Given the description of an element on the screen output the (x, y) to click on. 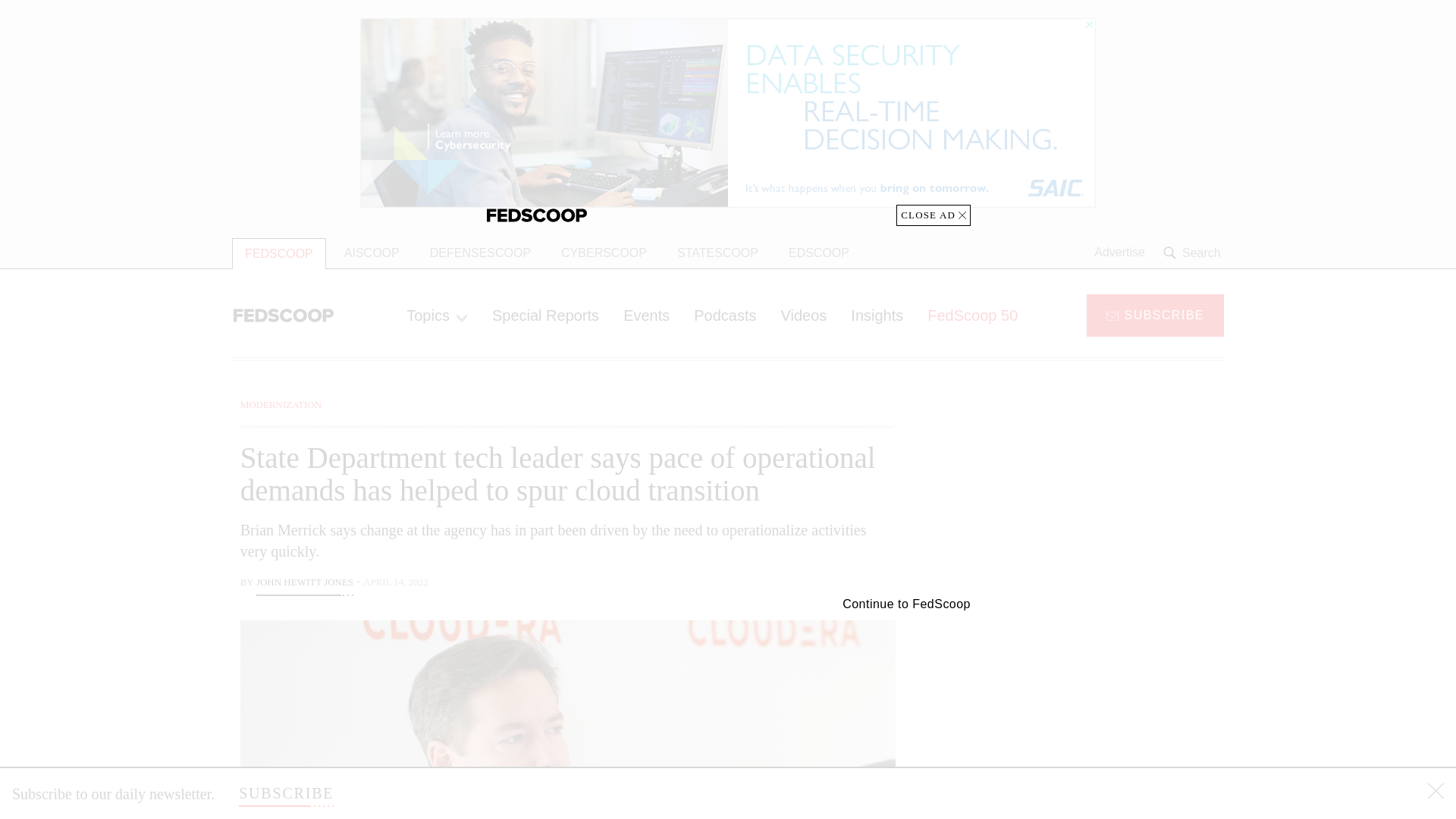
Topics (437, 315)
DEFENSESCOOP (480, 253)
3rd party ad content (1101, 492)
Search (1193, 252)
John Hewitt Jones (304, 583)
Podcasts (724, 315)
EDSCOOP (818, 253)
JOHN HEWITT JONES (304, 583)
FEDSCOOP (278, 253)
STATESCOOP (717, 253)
